Given the description of an element on the screen output the (x, y) to click on. 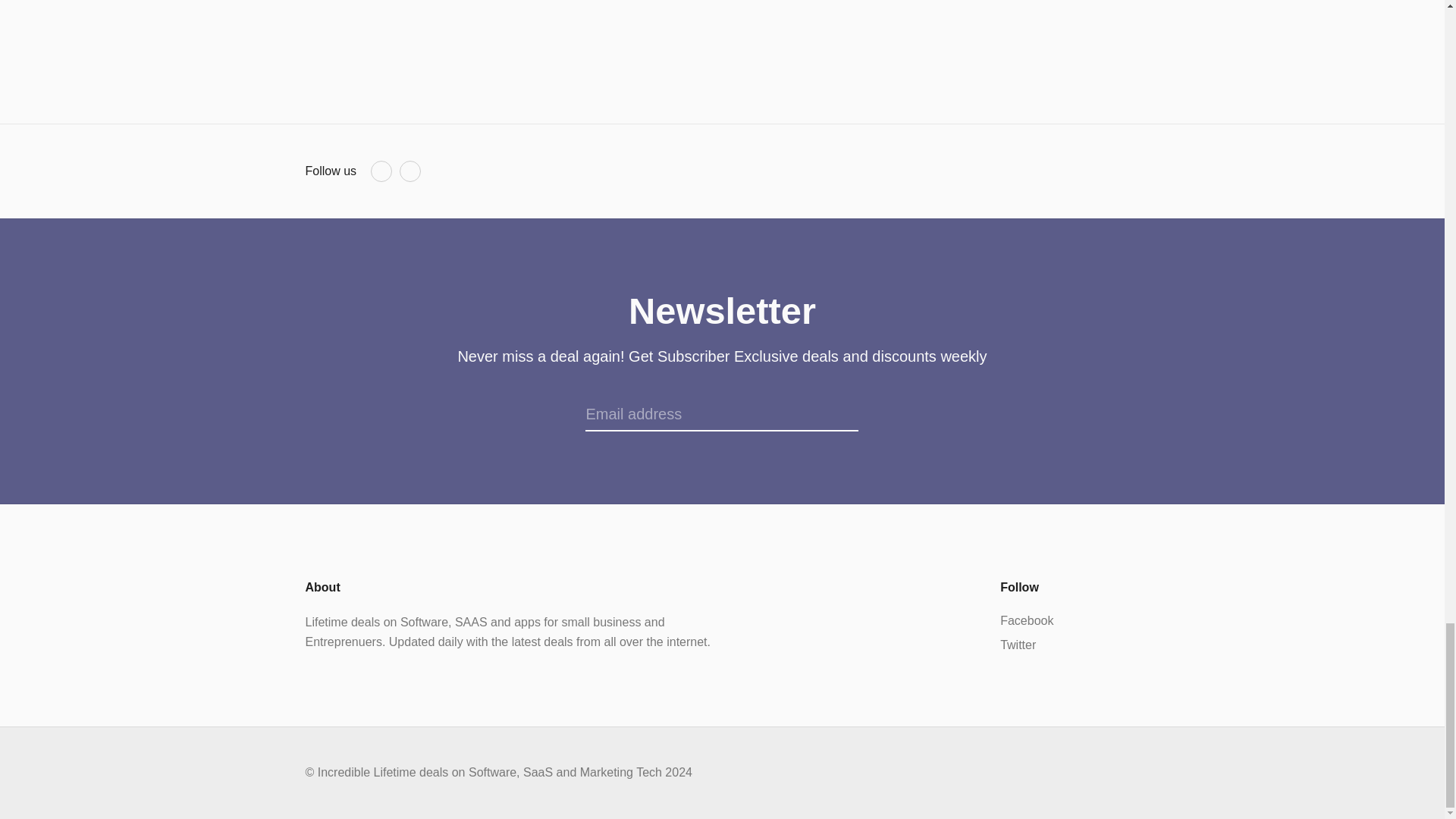
Twitter (409, 170)
Facebook (381, 170)
